Given the description of an element on the screen output the (x, y) to click on. 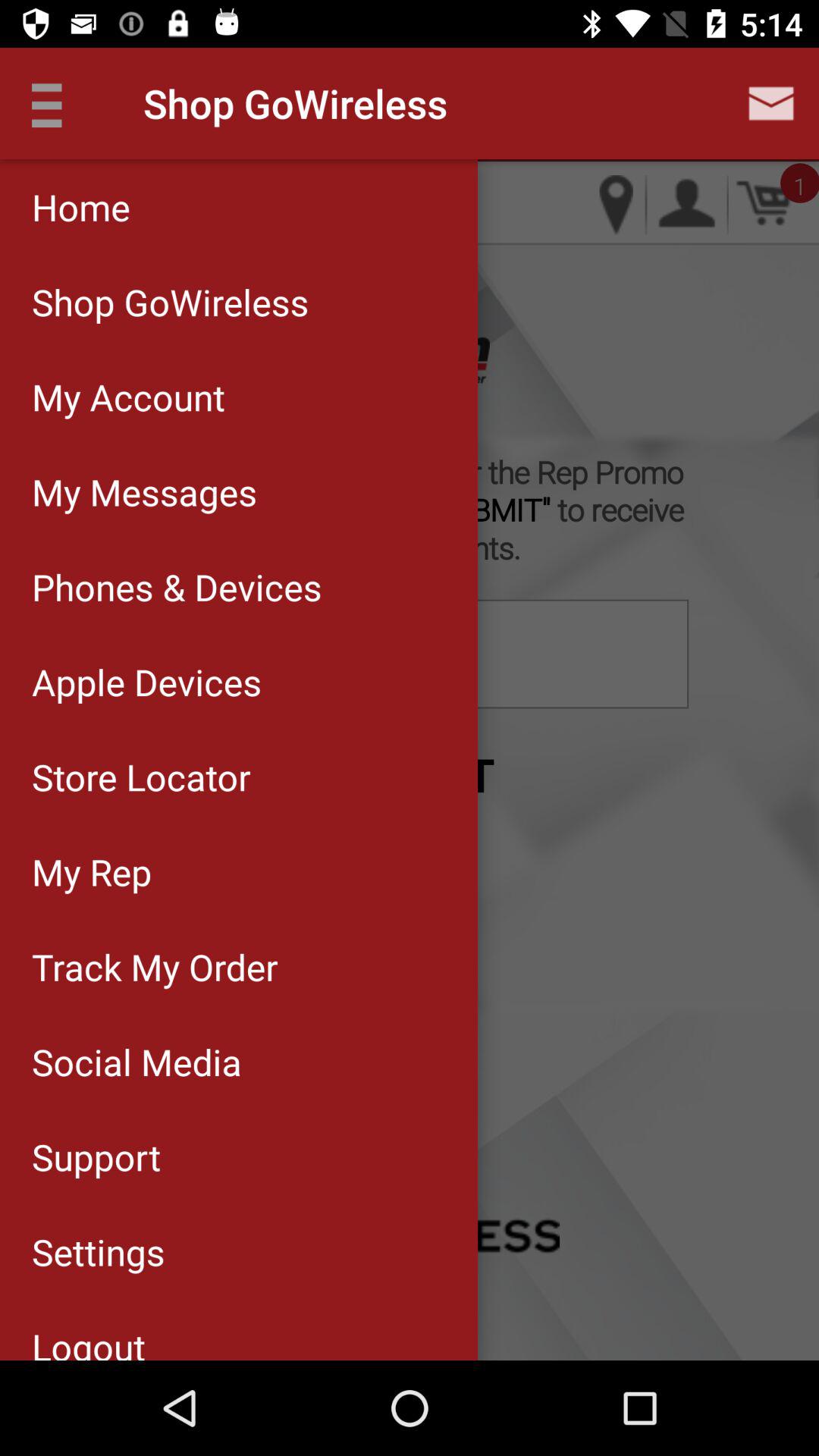
select item below store locator (238, 871)
